Given the description of an element on the screen output the (x, y) to click on. 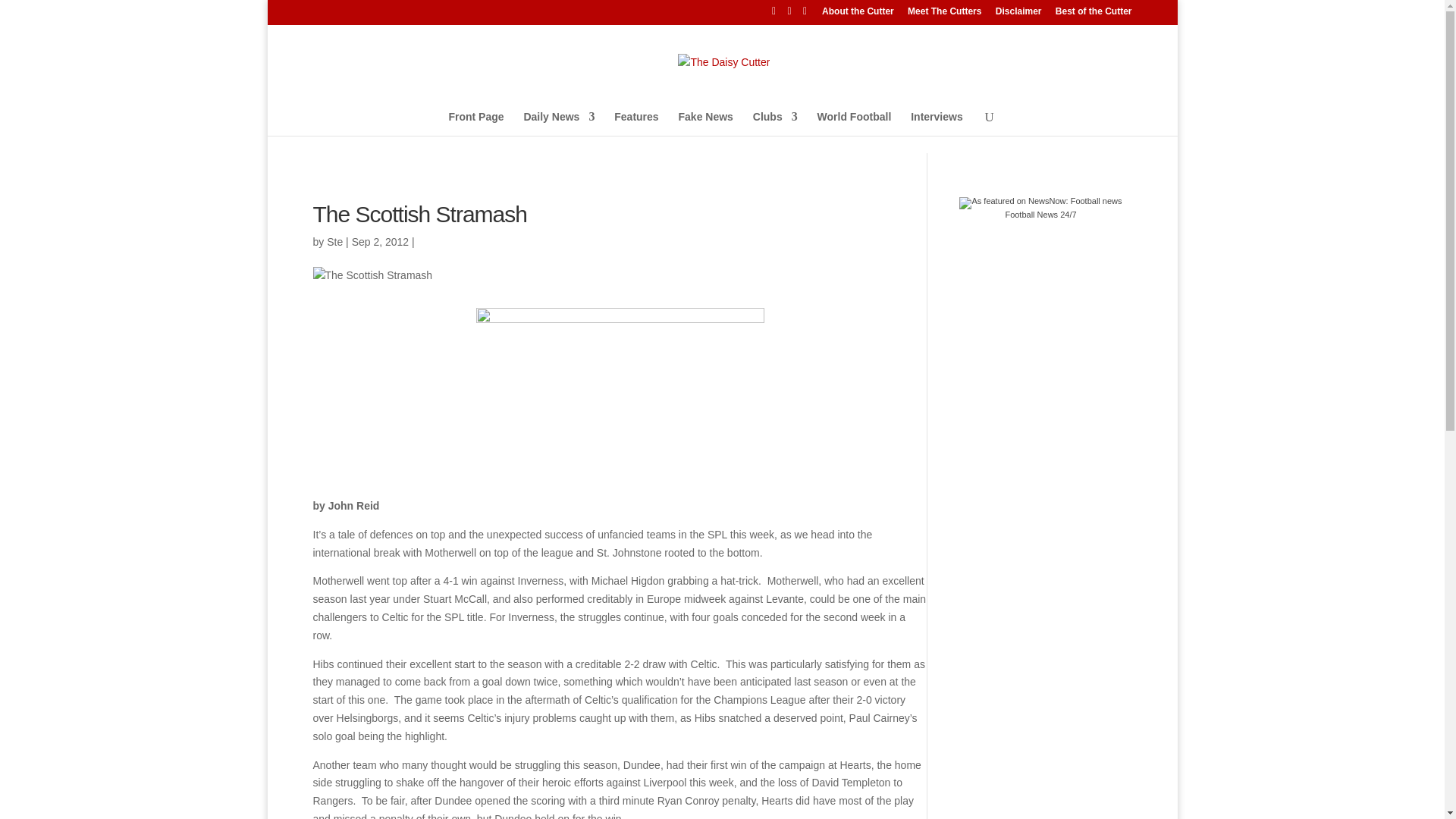
Click here for more Football news from NewsNow (1040, 208)
Clubs (774, 126)
Posts by Ste (334, 241)
Interviews (936, 126)
Daily News (558, 126)
About the Cutter (857, 14)
Front Page (475, 126)
World Football (853, 126)
Fake News (705, 126)
Best of the Cutter (1093, 14)
Disclaimer (1018, 14)
Meet The Cutters (944, 14)
5541-motherwell-fc-great-expectations (620, 388)
Features (636, 126)
